Given the description of an element on the screen output the (x, y) to click on. 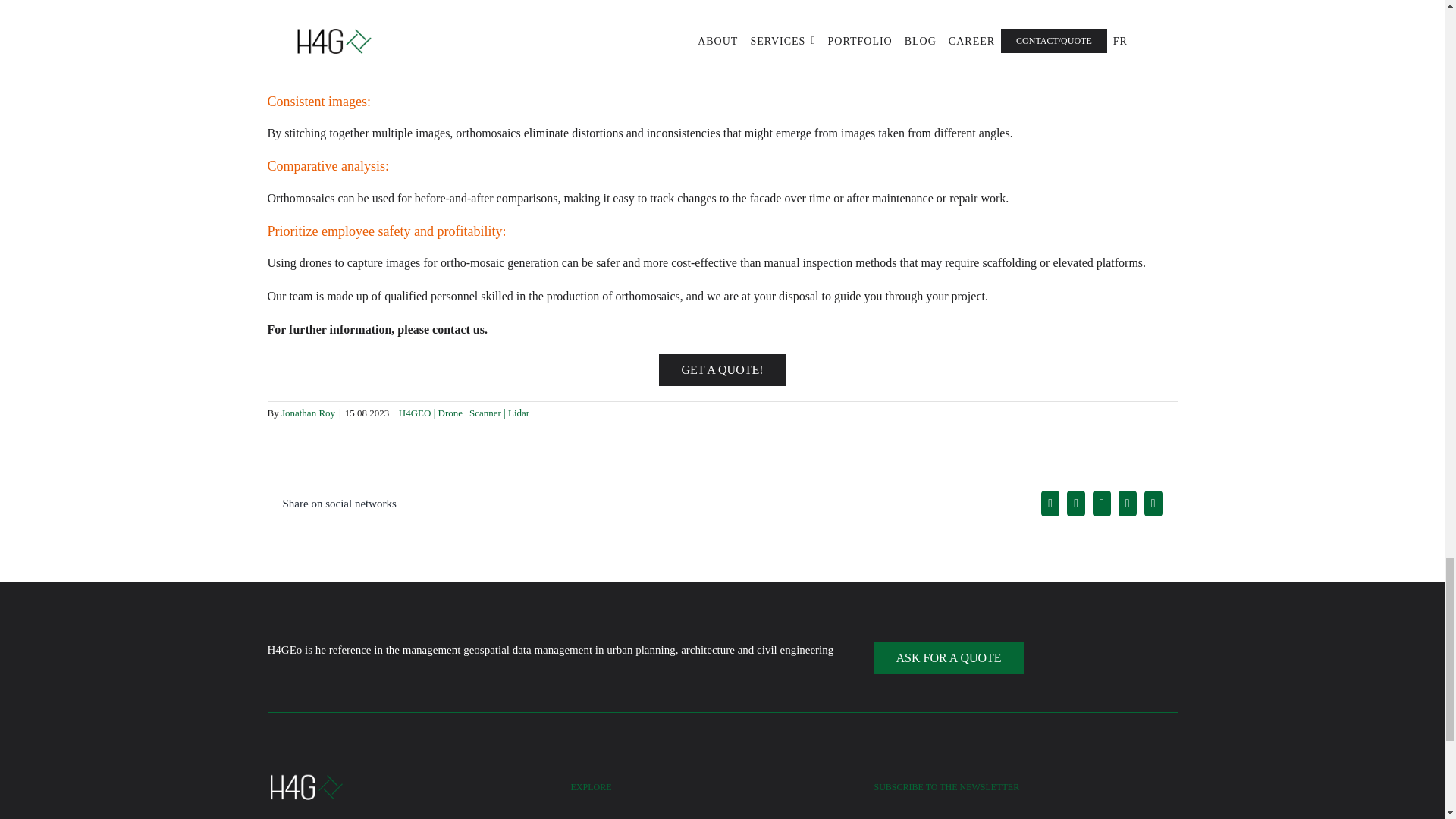
Jonathan Roy (307, 412)
GET A QUOTE! (721, 369)
Posts by Jonathan Roy (307, 412)
ASK FOR A QUOTE (948, 658)
